Given the description of an element on the screen output the (x, y) to click on. 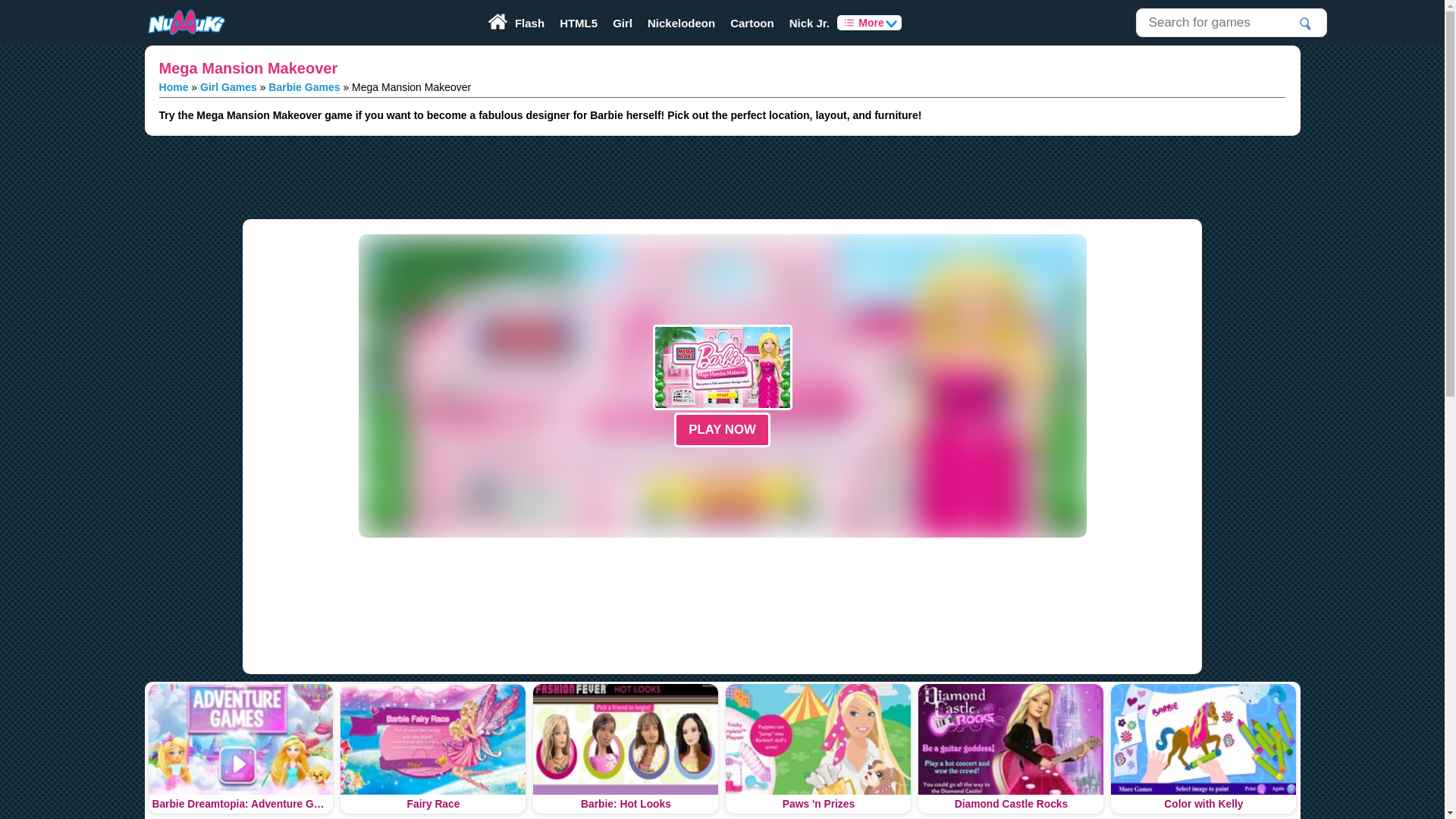
Nick Jr. (809, 22)
Girl (622, 22)
Home (173, 87)
Play Fun Browser Games (185, 22)
Cartoon Games (751, 22)
Nickelodeon Games (681, 22)
Flash Games (528, 22)
Barbie Games (303, 87)
HTML5 Games (578, 22)
